Given the description of an element on the screen output the (x, y) to click on. 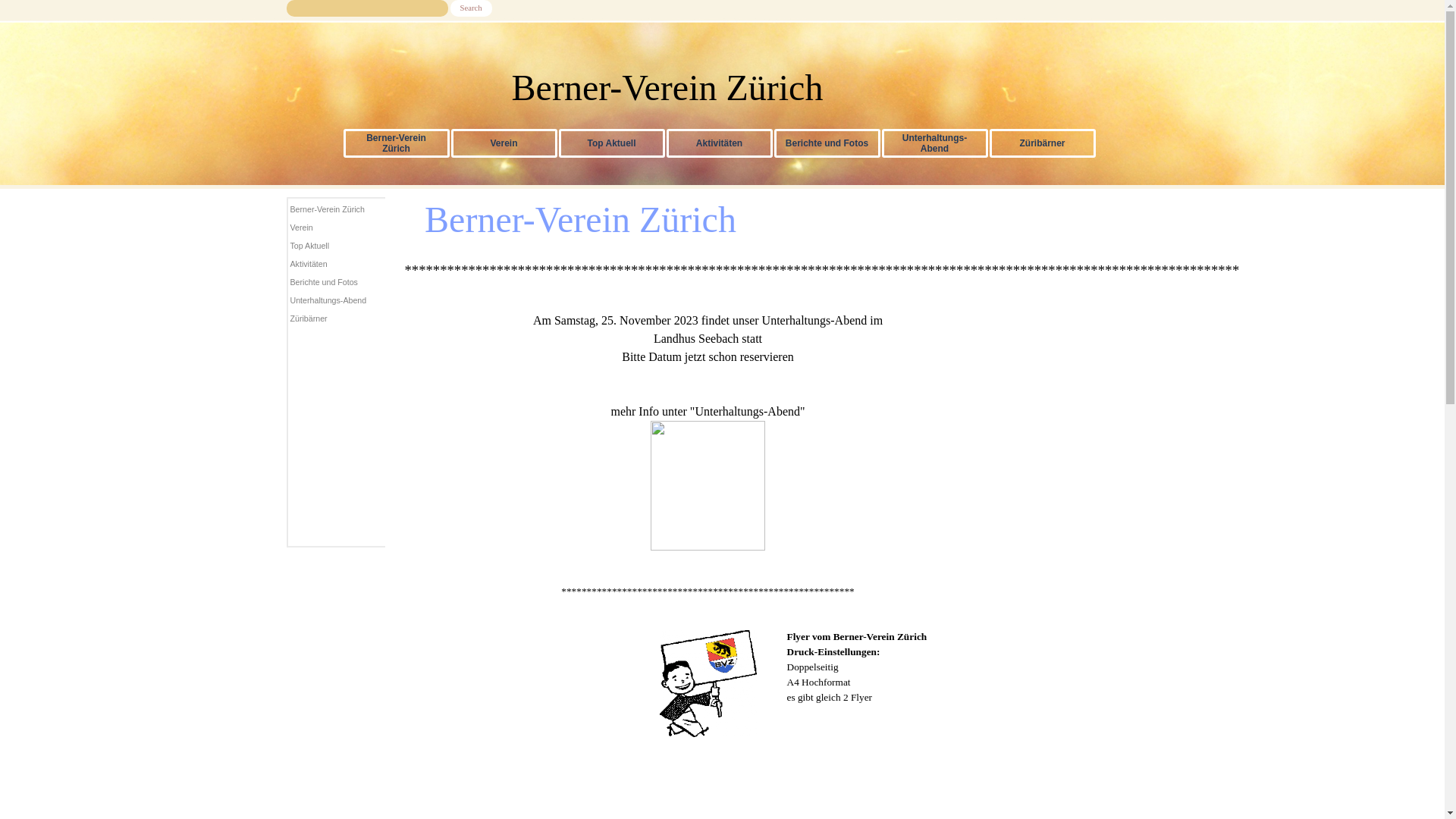
Search Element type: text (471, 8)
